Given the description of an element on the screen output the (x, y) to click on. 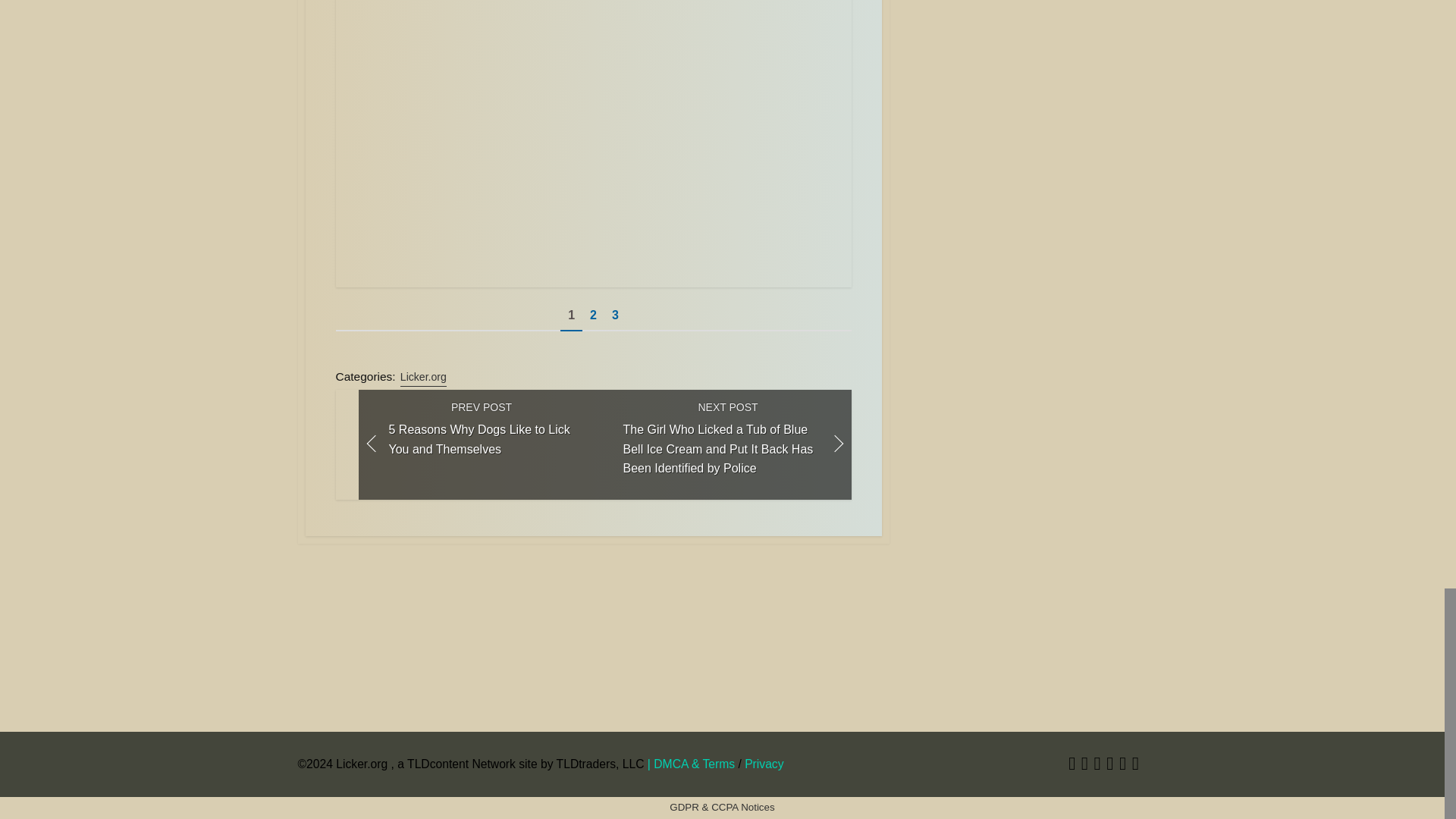
Licker.org (423, 376)
Privacy (763, 763)
